Given the description of an element on the screen output the (x, y) to click on. 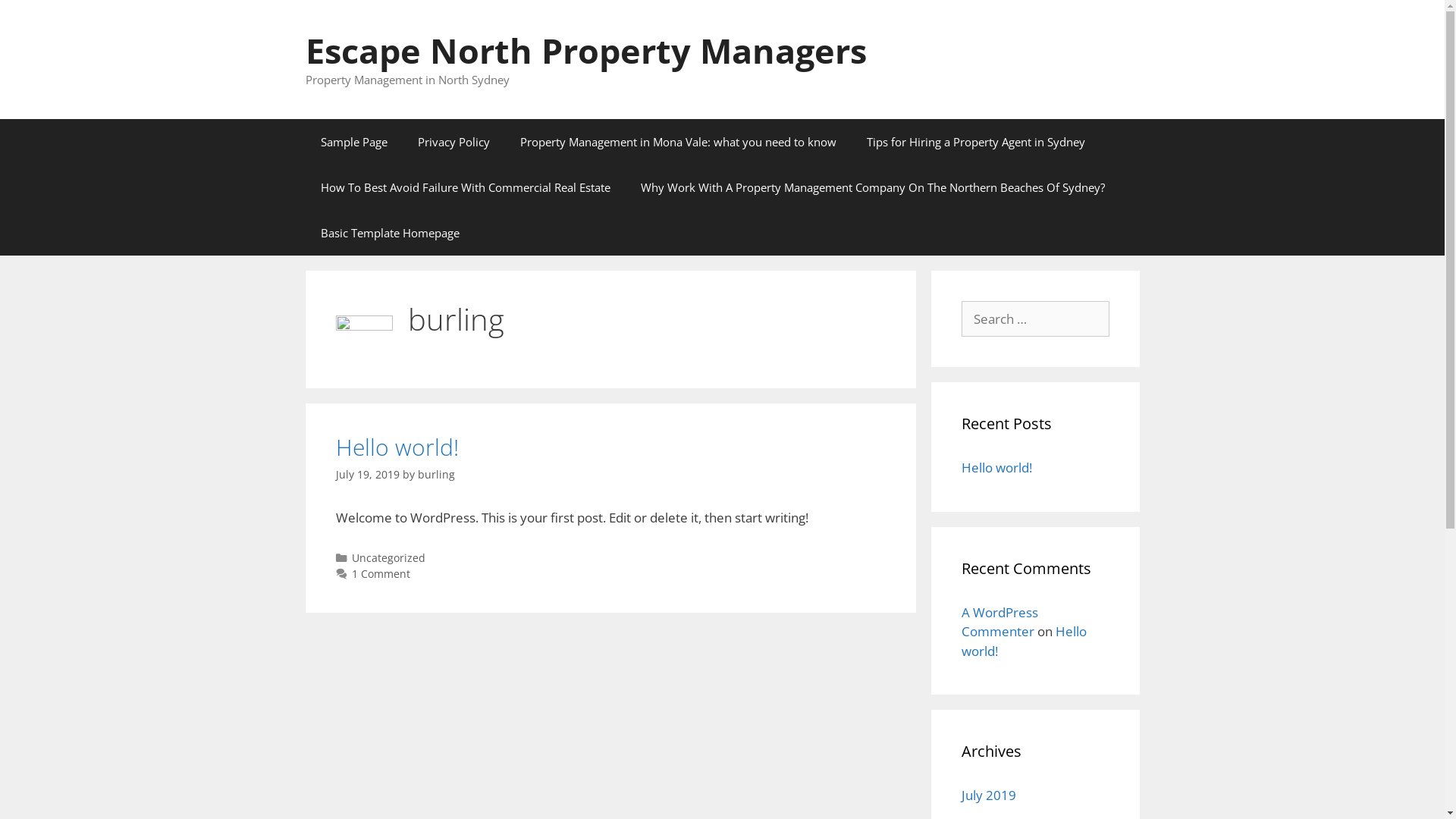
Hello world! Element type: text (996, 467)
burling Element type: text (435, 474)
Sample Page Element type: text (352, 140)
Uncategorized Element type: text (388, 557)
July 19, 2019 Element type: text (366, 474)
Search Element type: text (36, 18)
How To Best Avoid Failure With Commercial Real Estate Element type: text (464, 186)
Basic Template Homepage Element type: text (388, 231)
Hello world! Element type: text (1023, 640)
July 2019 Element type: text (988, 794)
Tips for Hiring a Property Agent in Sydney Element type: text (974, 140)
Property Management in Mona Vale: what you need to know Element type: text (678, 140)
A WordPress Commenter Element type: text (999, 621)
Escape North Property Managers Element type: text (585, 50)
1 Comment Element type: text (380, 573)
Privacy Policy Element type: text (452, 140)
Hello world! Element type: text (396, 445)
Search for: Element type: hover (1035, 318)
